Given the description of an element on the screen output the (x, y) to click on. 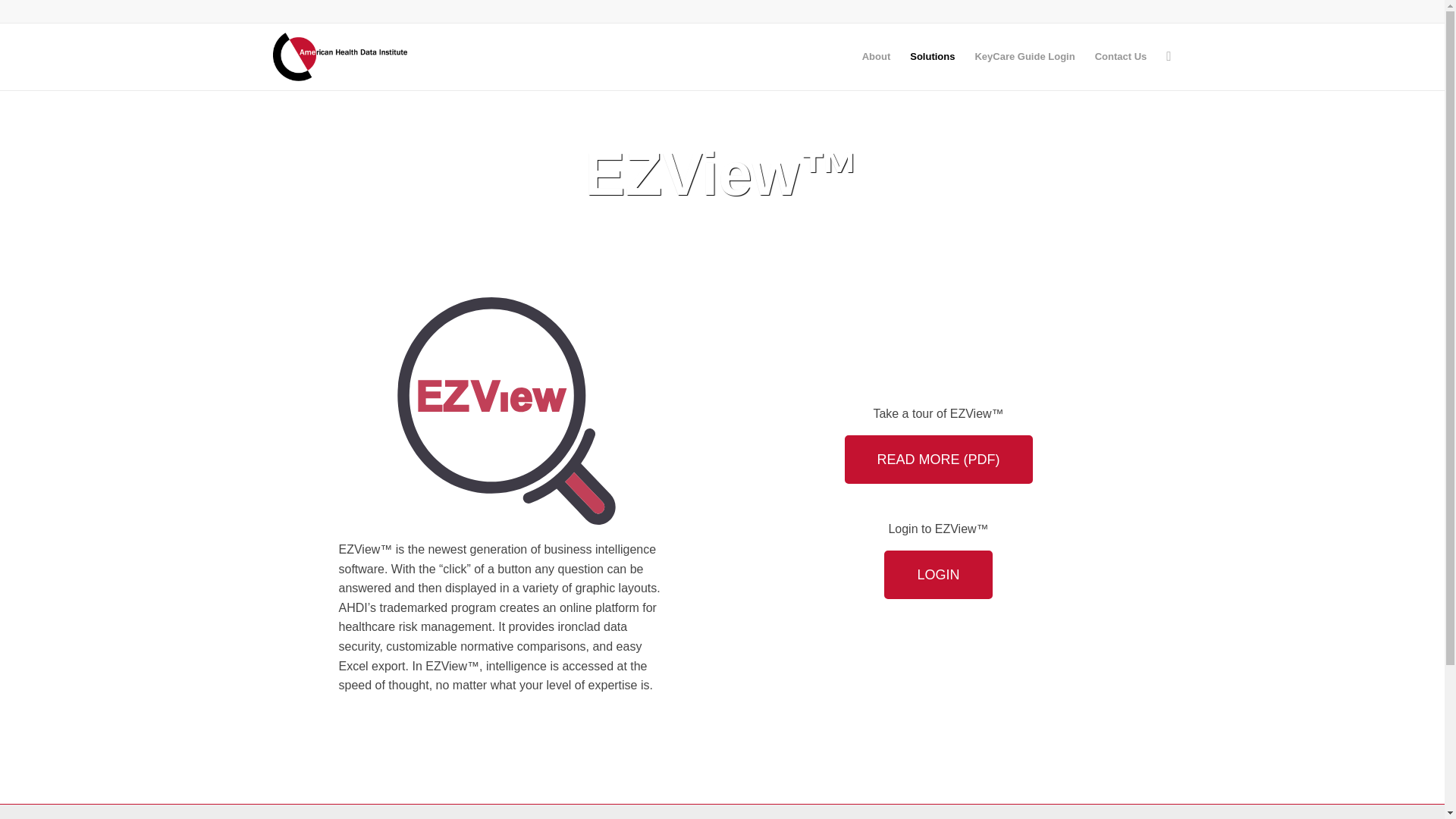
Contact Us (1120, 56)
KeyCare Guide Login (1023, 56)
Solutions (931, 56)
LOGIN (937, 574)
